Given the description of an element on the screen output the (x, y) to click on. 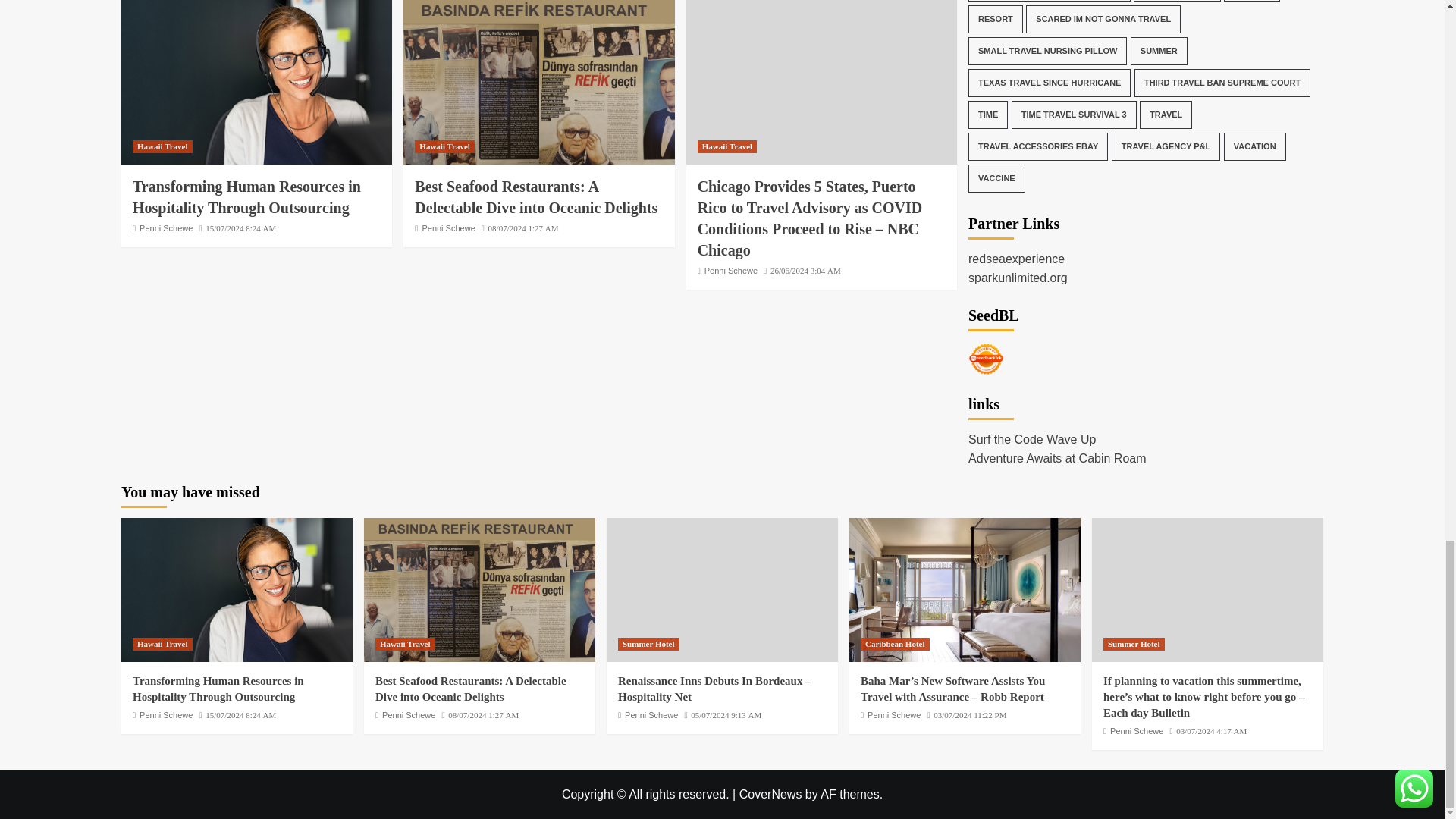
Penni Schewe (165, 227)
Hawaii Travel (162, 146)
Seedbacklink (986, 358)
Hawaii Travel (444, 146)
